Given the description of an element on the screen output the (x, y) to click on. 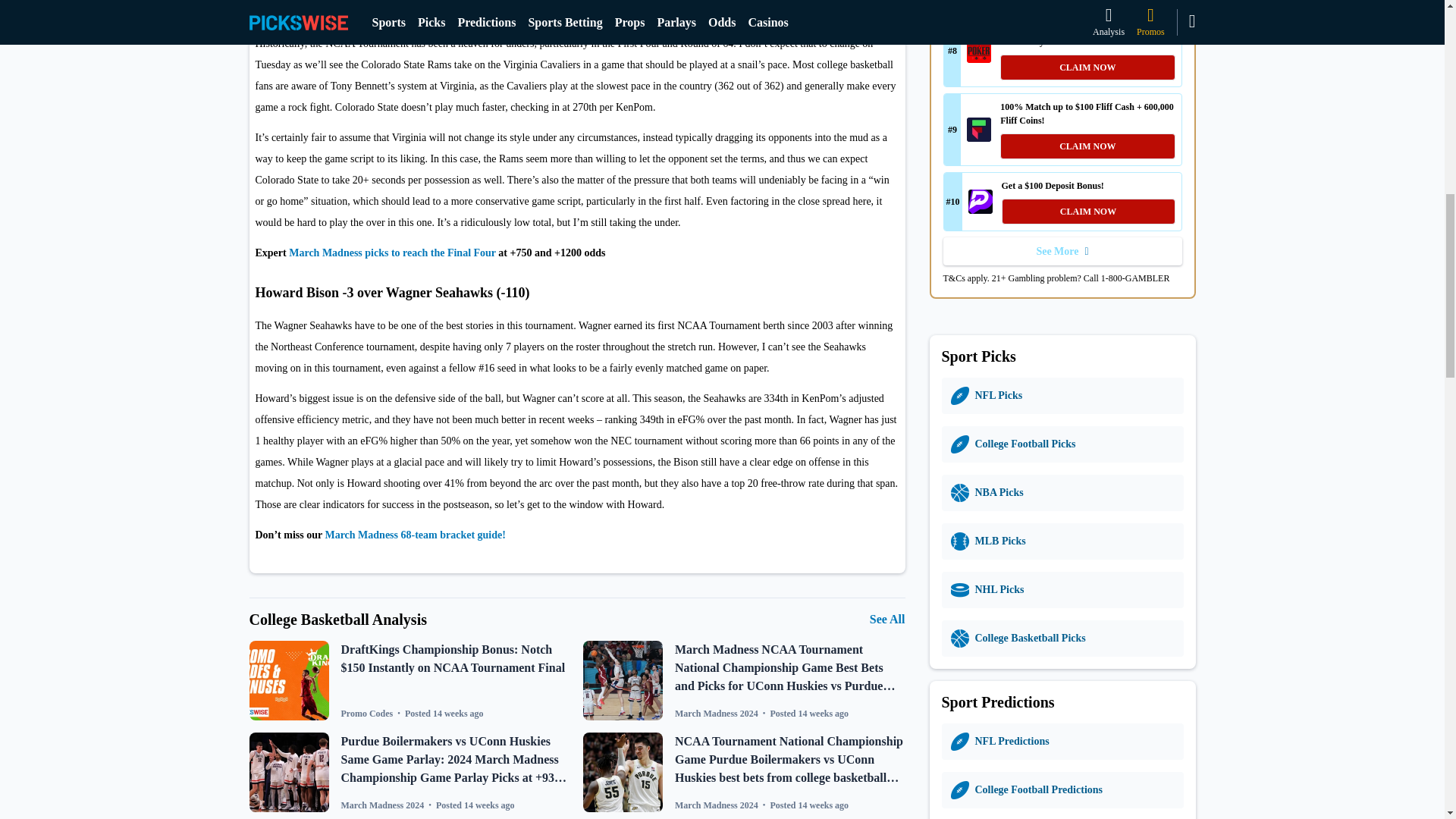
Promo Codes (366, 713)
March Madness 2024 (382, 805)
March Madness 2024 (716, 805)
March Madness 68-team bracket guide! (414, 534)
March Madness picks to reach the Final Four (392, 252)
See All (887, 619)
March Madness 2024 (716, 713)
